Given the description of an element on the screen output the (x, y) to click on. 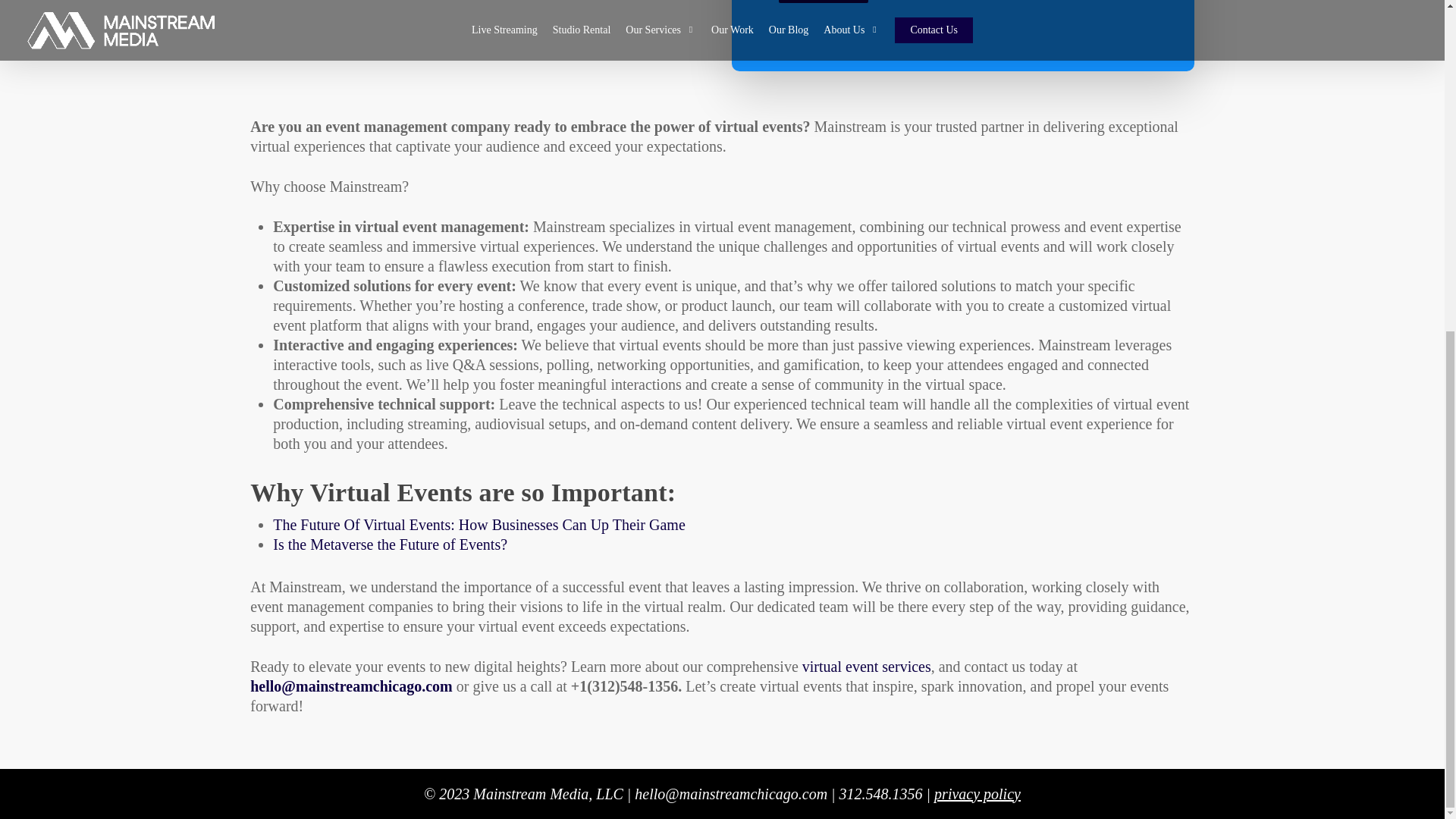
privacy policy (977, 793)
Is the Metaverse the Future of Events? (389, 543)
Get in touch (822, 1)
virtual event services (866, 666)
Get in touch (822, 1)
